Given the description of an element on the screen output the (x, y) to click on. 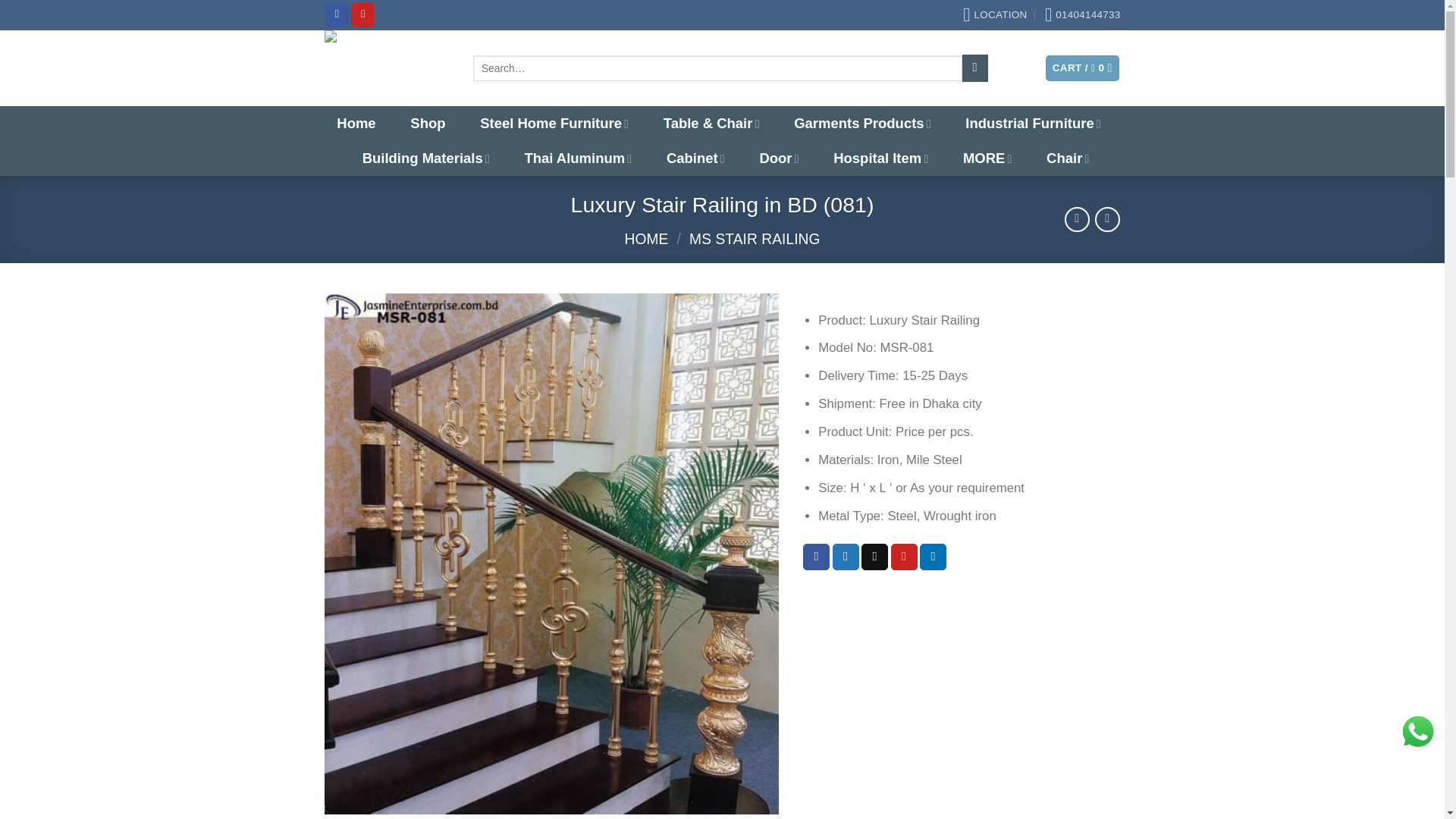
Home (355, 123)
Cart (1082, 68)
Follow on Facebook (336, 14)
LOGIN (1005, 67)
Steel Home Furniture (553, 123)
LOCATION (994, 15)
Jasmine Enterprise - World Class Furniture Shop (386, 68)
Search (974, 67)
Garments Products (861, 123)
01404144733 (1083, 15)
01404144733 (1083, 15)
Shop (426, 123)
Follow on Pinterest (362, 14)
